Given the description of an element on the screen output the (x, y) to click on. 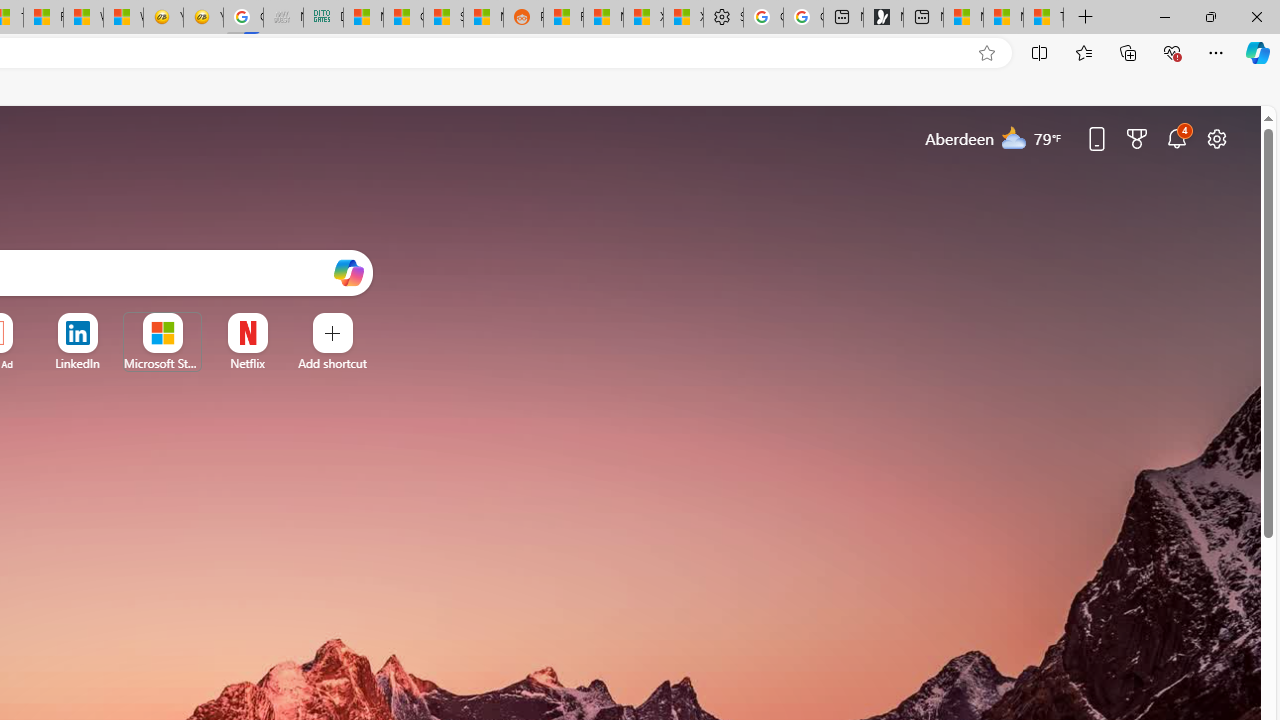
Add a site (332, 363)
More Options (279, 320)
Fitness - MSN (43, 17)
These 3 Stocks Pay You More Than 5% to Own Them (1043, 17)
Netflix (247, 363)
